Given the description of an element on the screen output the (x, y) to click on. 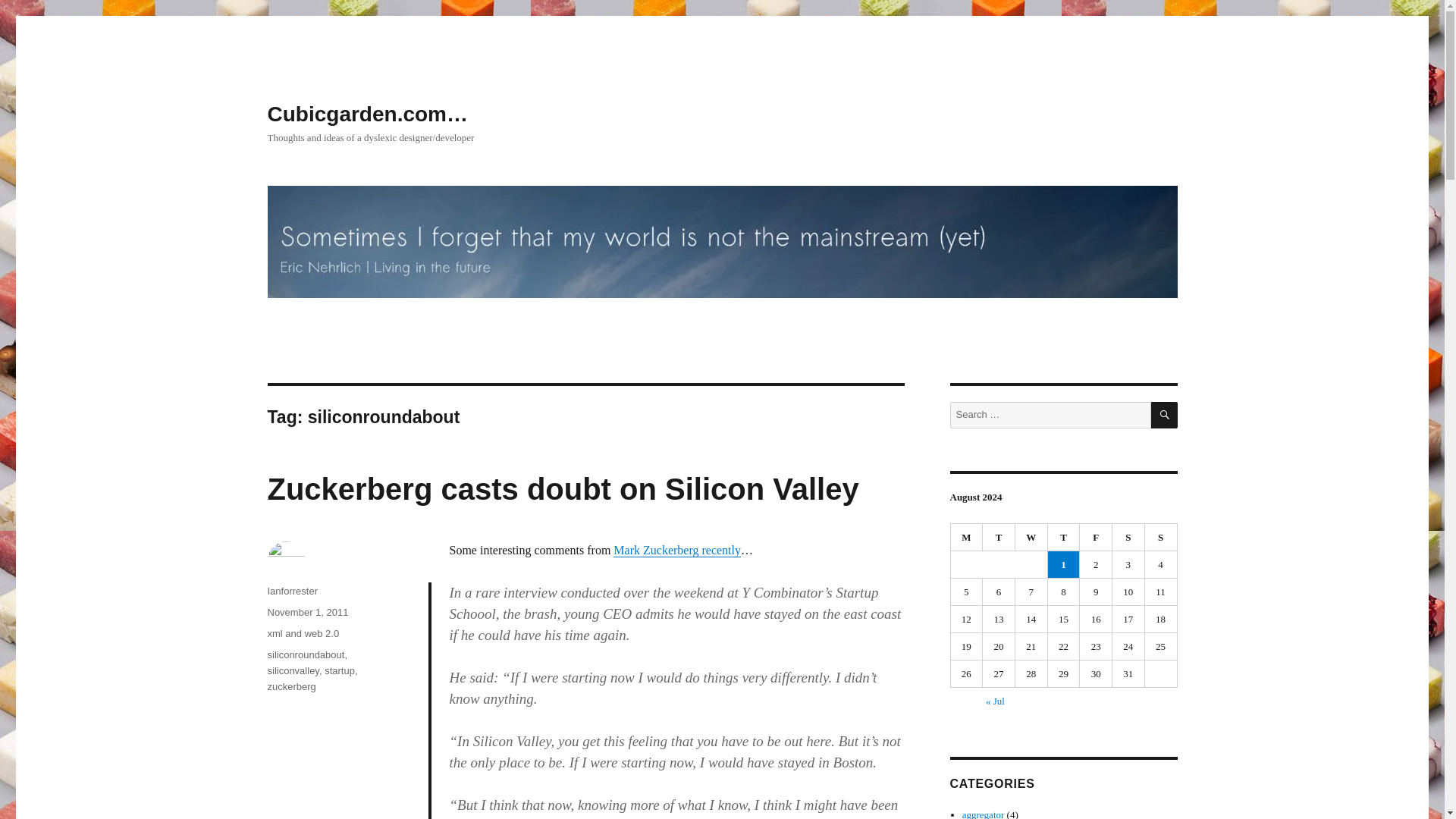
Friday (1096, 537)
siliconroundabout (304, 654)
aggregator (983, 814)
Mark Zuckerberg recently (676, 549)
November 1, 2011 (306, 612)
1 (1064, 564)
xml and web 2.0 (302, 633)
Sunday (1160, 537)
Wednesday (1031, 537)
startup (339, 670)
